Given the description of an element on the screen output the (x, y) to click on. 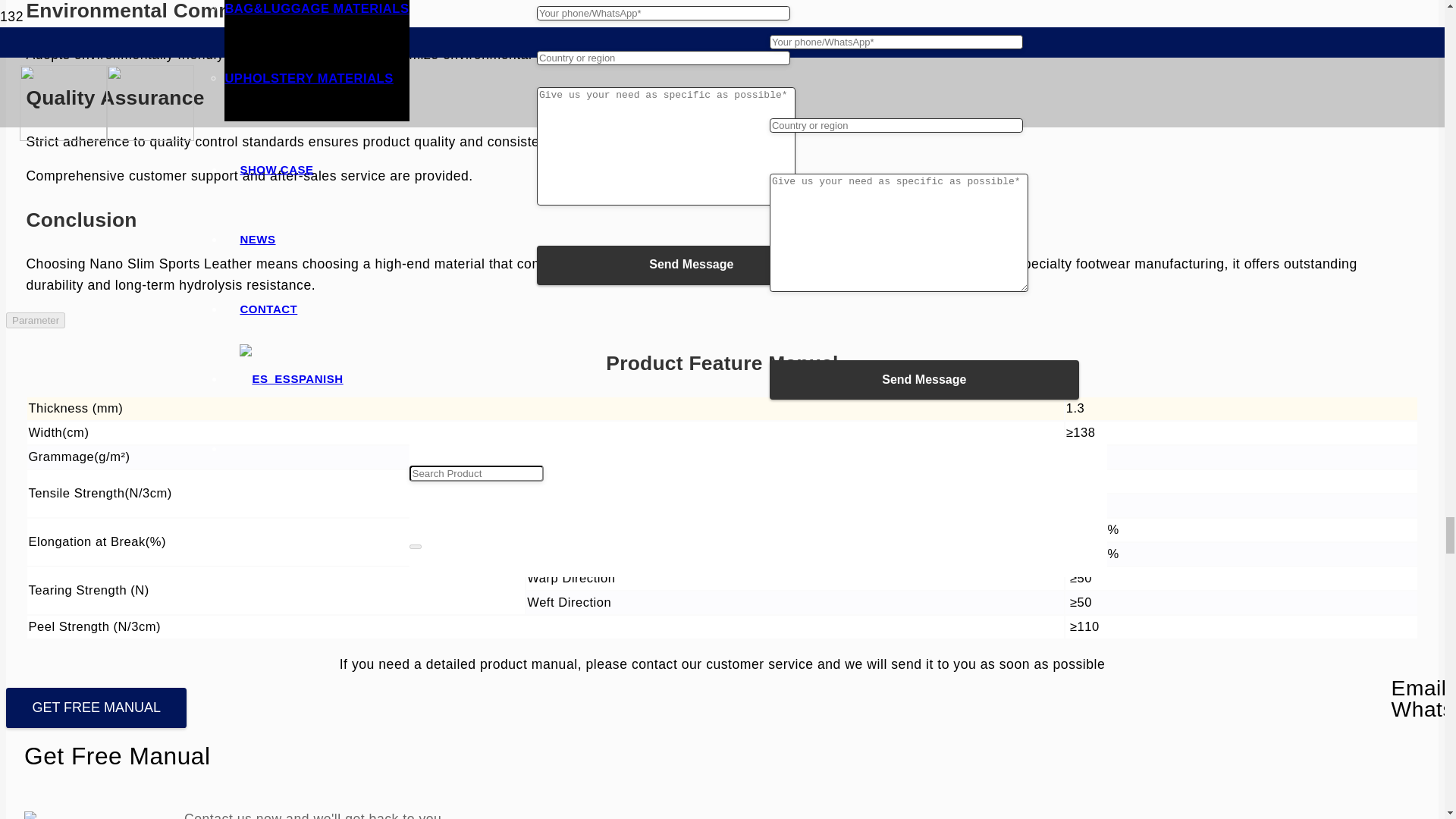
Parameter (35, 320)
GET FREE MANUAL (95, 707)
